Given the description of an element on the screen output the (x, y) to click on. 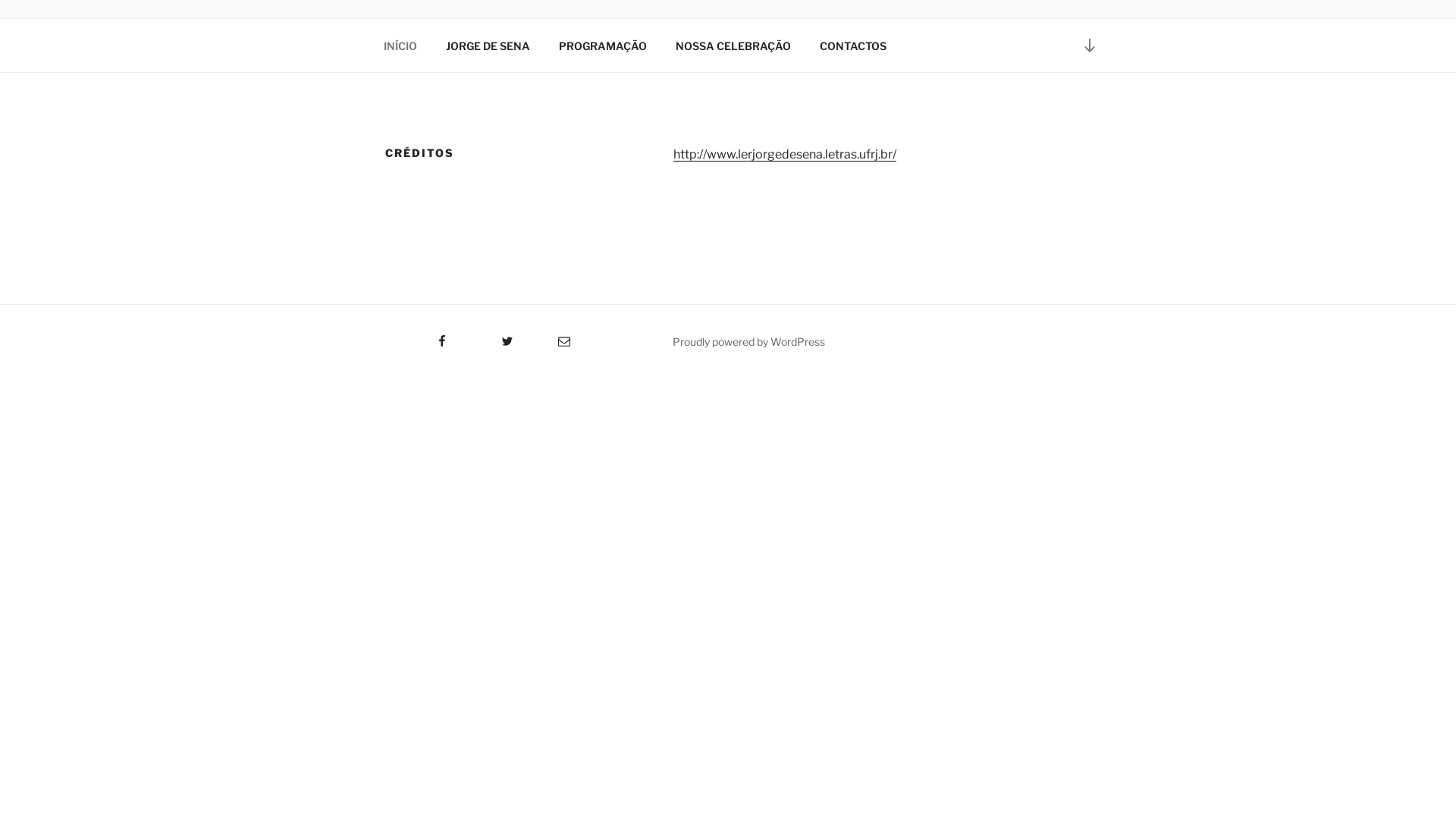
http://www.lerjorgedesena.letras.ufrj.br/ Element type: text (784, 154)
JORGE DE SENA Element type: text (487, 45)
Email Element type: text (548, 335)
Scroll down to content Element type: text (1089, 44)
Facebook Element type: text (414, 335)
CONTACTOS Element type: text (852, 45)
Twitter Element type: text (487, 335)
Proudly powered by WordPress Element type: text (748, 341)
